Given the description of an element on the screen output the (x, y) to click on. 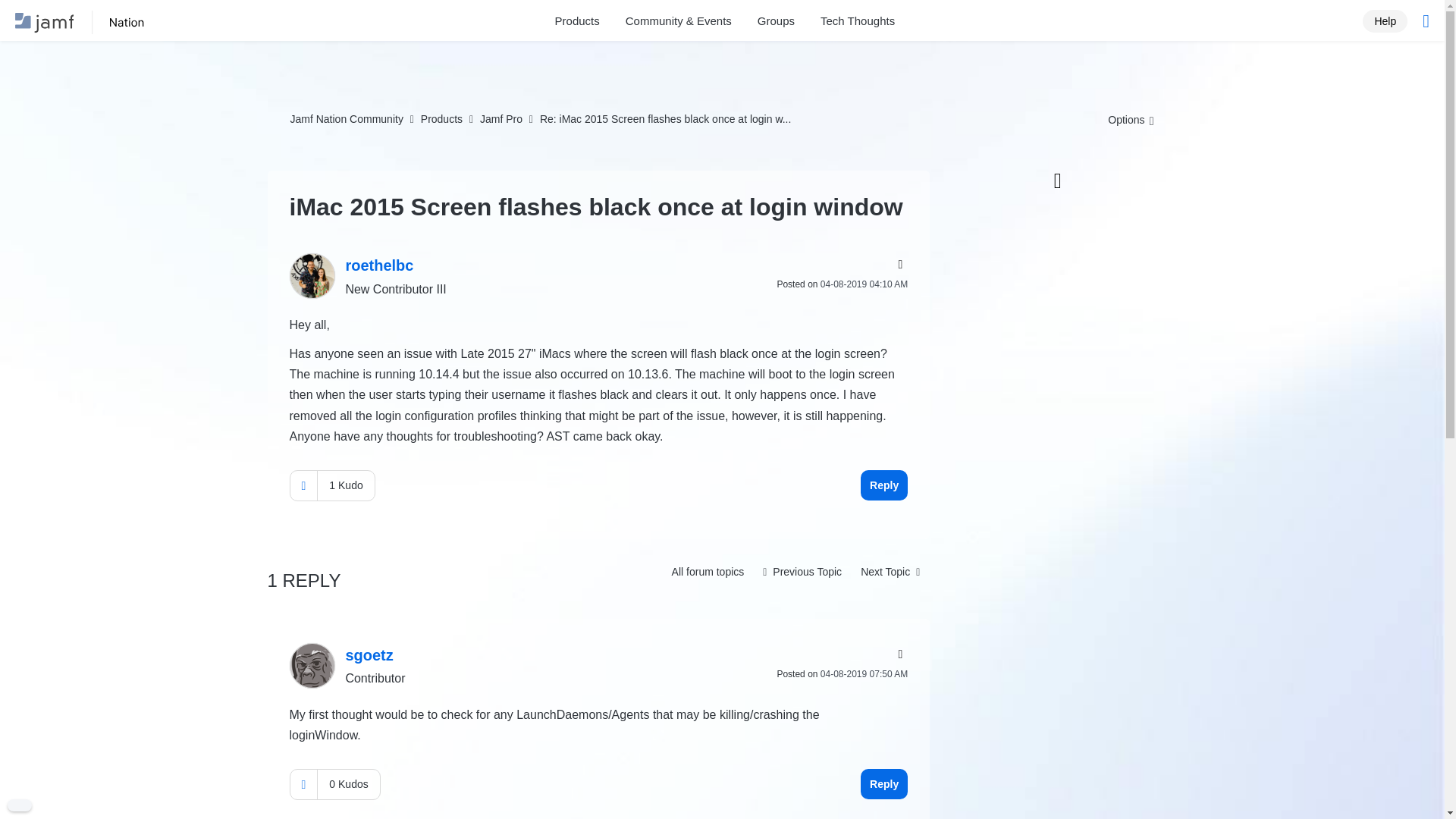
sgoetz (311, 665)
Jamf Pro (501, 119)
Reply (883, 485)
Jamf Nation Community (346, 119)
1 Kudo (345, 484)
roethelbc (311, 275)
roethelbc (379, 265)
Products (576, 21)
Products (441, 119)
